Given the description of an element on the screen output the (x, y) to click on. 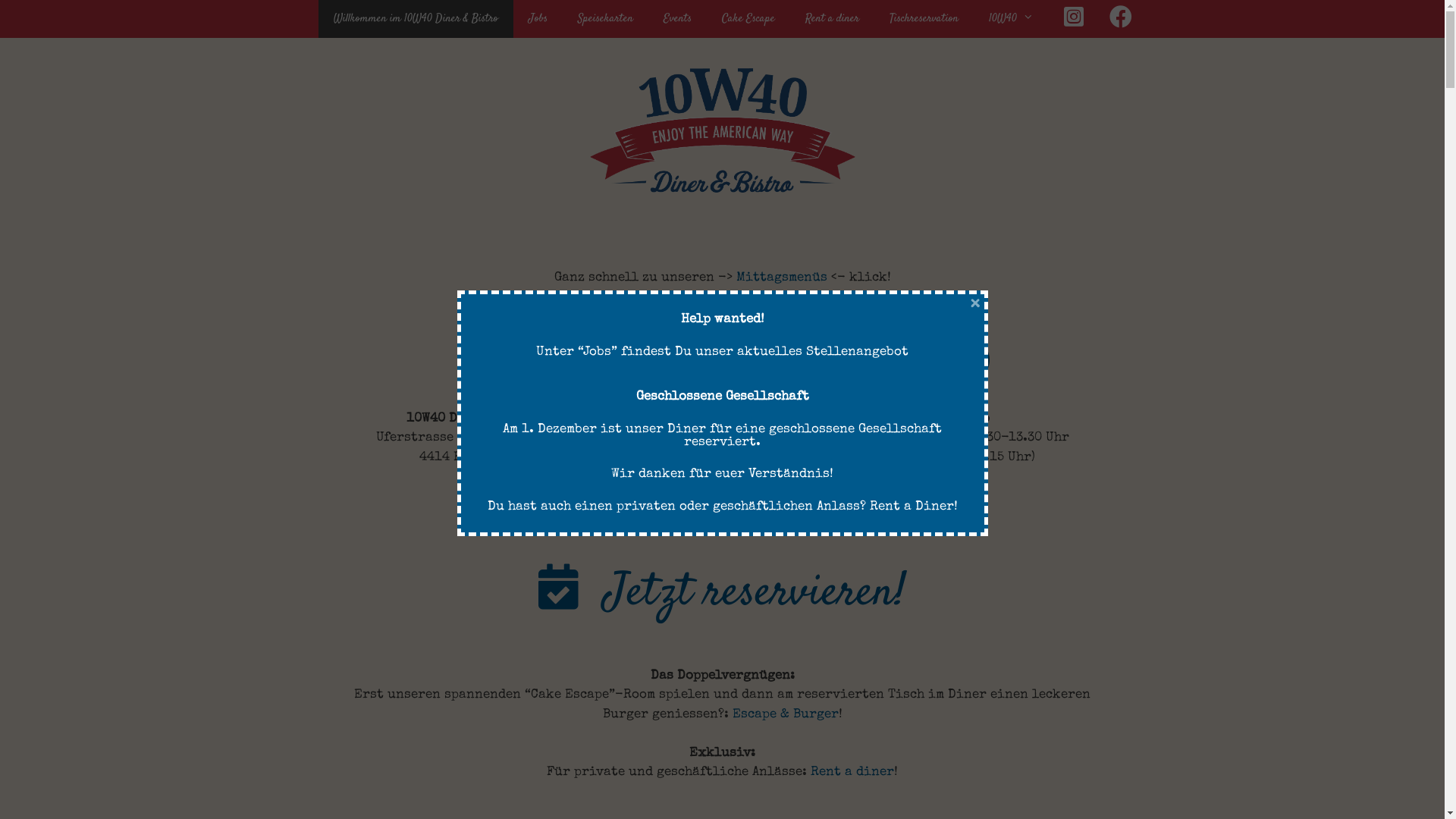
Cake Escape Element type: text (748, 18)
10W40 Element type: text (1010, 18)
Willkommen im 10W40 Diner & Bistro Element type: text (415, 18)
Rent a diner Element type: text (852, 771)
 Jetzt reservieren! Element type: text (748, 593)
Events Element type: text (676, 18)
Tischreservation Element type: text (922, 18)
Escape & Burger Element type: text (785, 714)
Jobs Element type: text (536, 18)
Speisekarten Element type: text (605, 18)
Rent a diner Element type: text (832, 18)
